Given the description of an element on the screen output the (x, y) to click on. 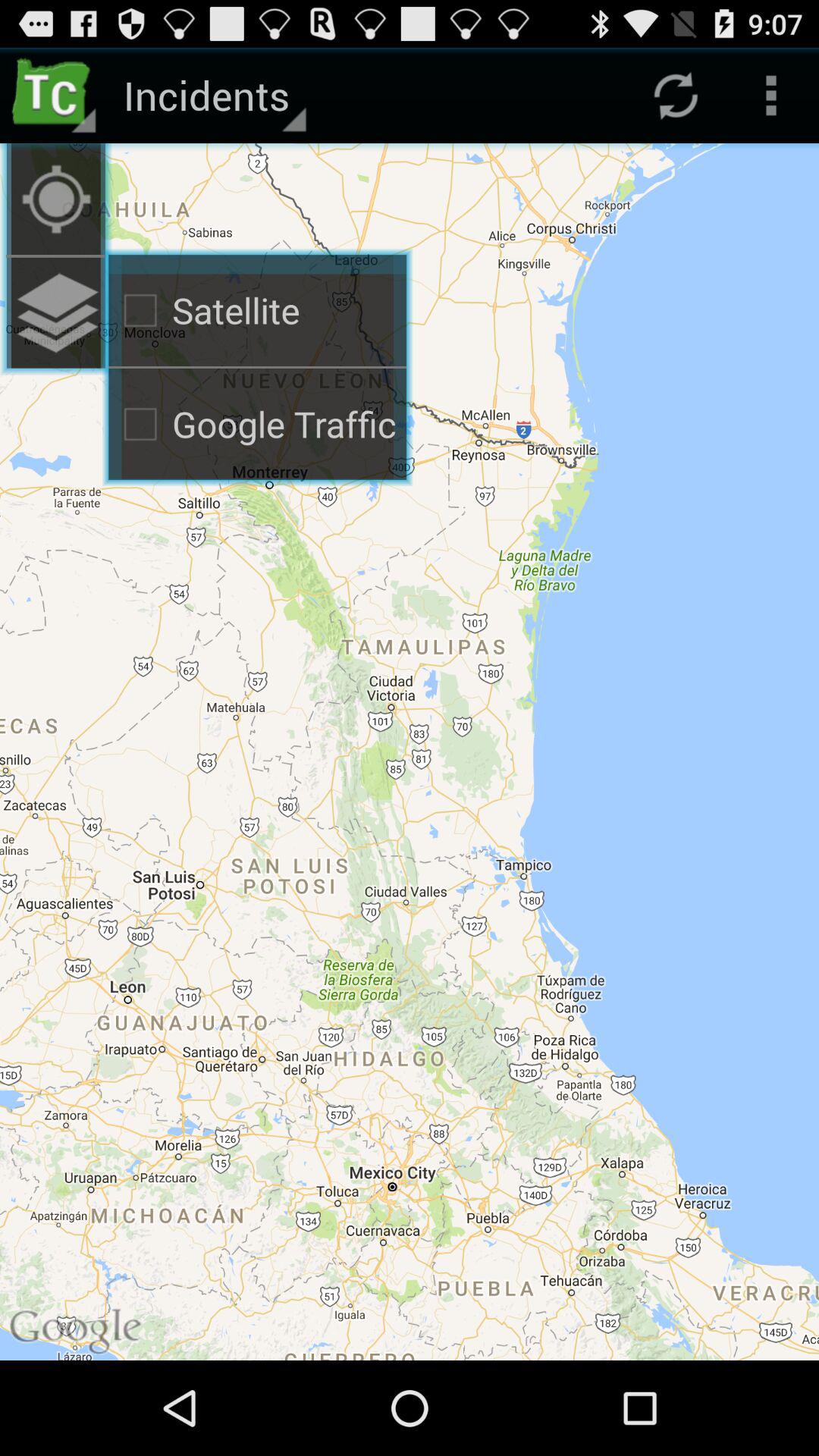
swipe until the satellite icon (257, 310)
